Given the description of an element on the screen output the (x, y) to click on. 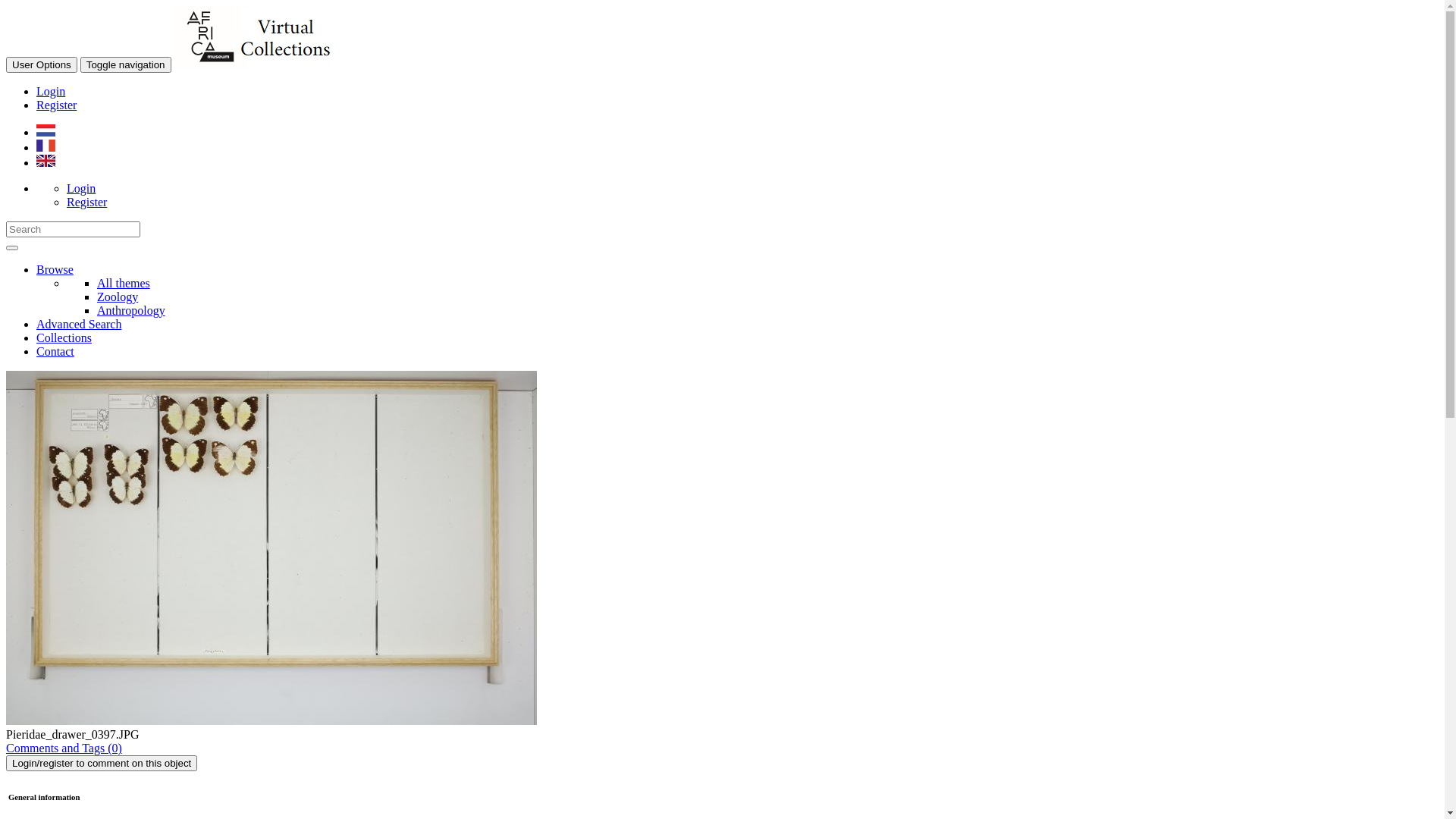
Login Element type: text (80, 188)
Zoology Element type: text (117, 296)
Collections Element type: text (63, 337)
Register Element type: text (56, 104)
Dutch Element type: hover (45, 131)
French Element type: hover (45, 147)
Anthropology Element type: text (131, 310)
English Element type: hover (45, 162)
Contact Element type: text (55, 351)
Register Element type: text (86, 201)
Comments and Tags (0) Element type: text (64, 747)
Browse Element type: text (54, 269)
Login Element type: text (50, 90)
All themes Element type: text (123, 282)
User Options Element type: text (41, 64)
Login/register to comment on this object Element type: text (101, 763)
Toggle navigation Element type: text (125, 64)
Advanced Search Element type: text (78, 323)
